Given the description of an element on the screen output the (x, y) to click on. 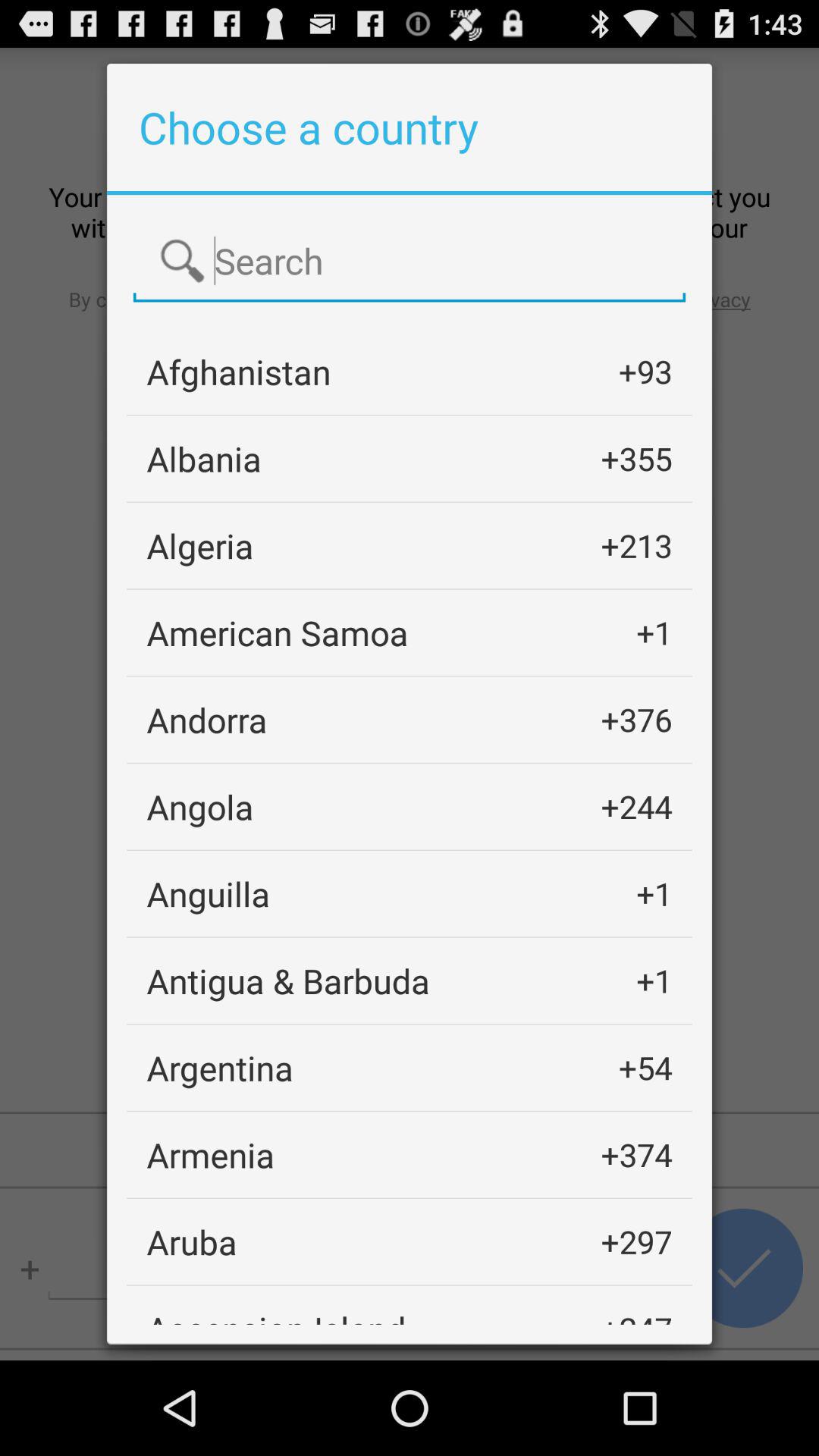
click icon above the argentina app (287, 980)
